Given the description of an element on the screen output the (x, y) to click on. 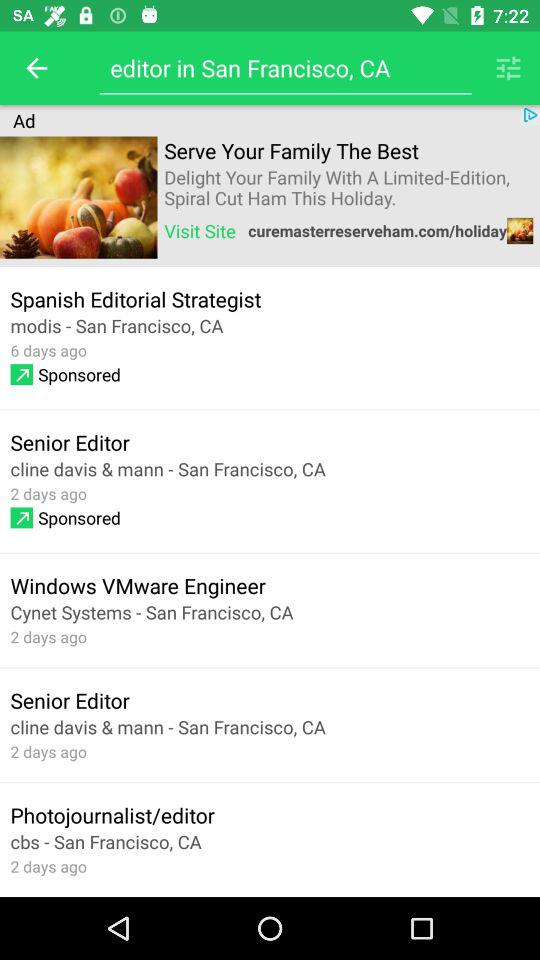
click the item to the left of the curemasterreserveham.com/holiday item (199, 230)
